Given the description of an element on the screen output the (x, y) to click on. 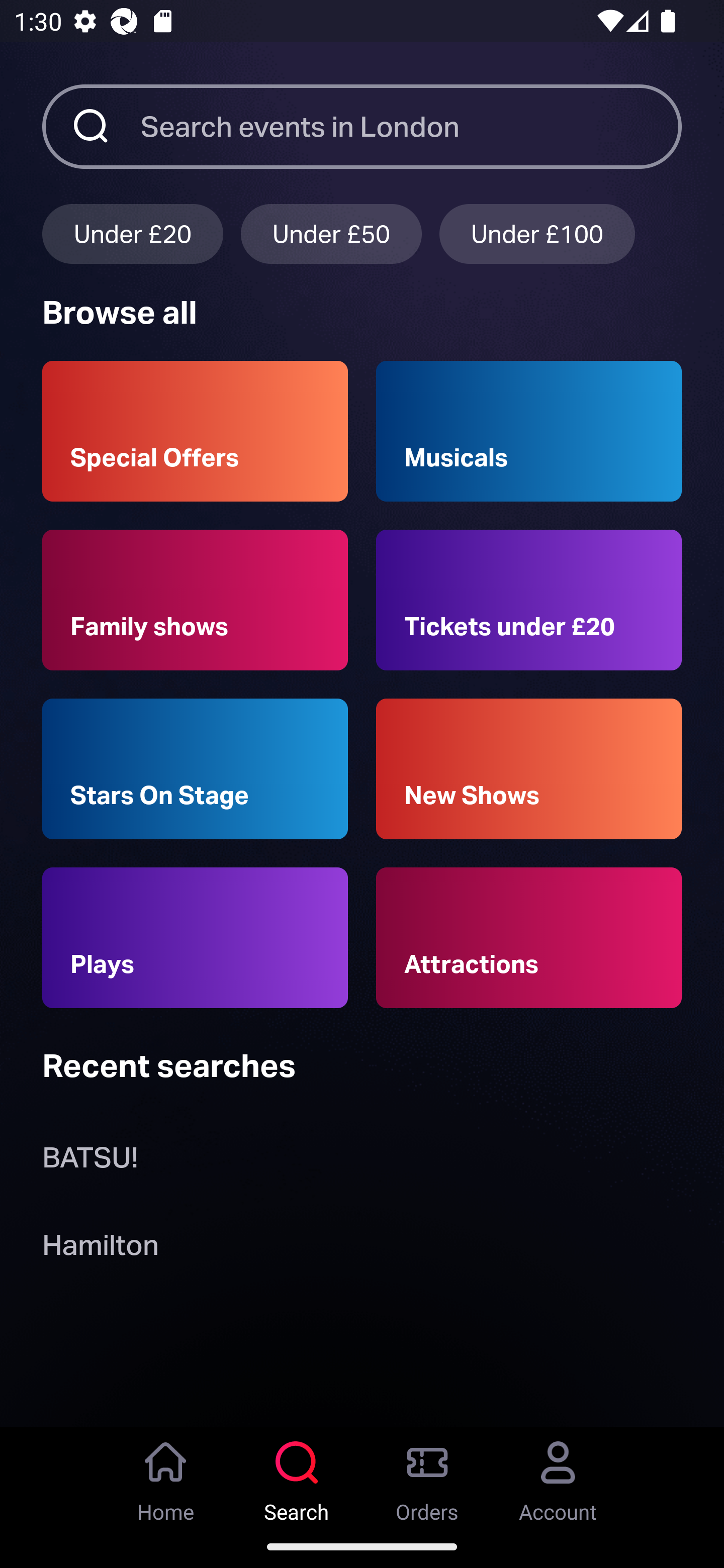
Search events in London (411, 126)
Under £20 (131, 233)
Under £50 (331, 233)
Under £100 (536, 233)
Special Offers (194, 430)
Musicals (528, 430)
Family shows (194, 600)
Tickets under £20  (528, 600)
Stars On Stage (194, 768)
New Shows (528, 768)
Plays (194, 937)
Attractions  (528, 937)
BATSU! (89, 1161)
Hamilton (99, 1248)
Home (165, 1475)
Orders (427, 1475)
Account (558, 1475)
